Given the description of an element on the screen output the (x, y) to click on. 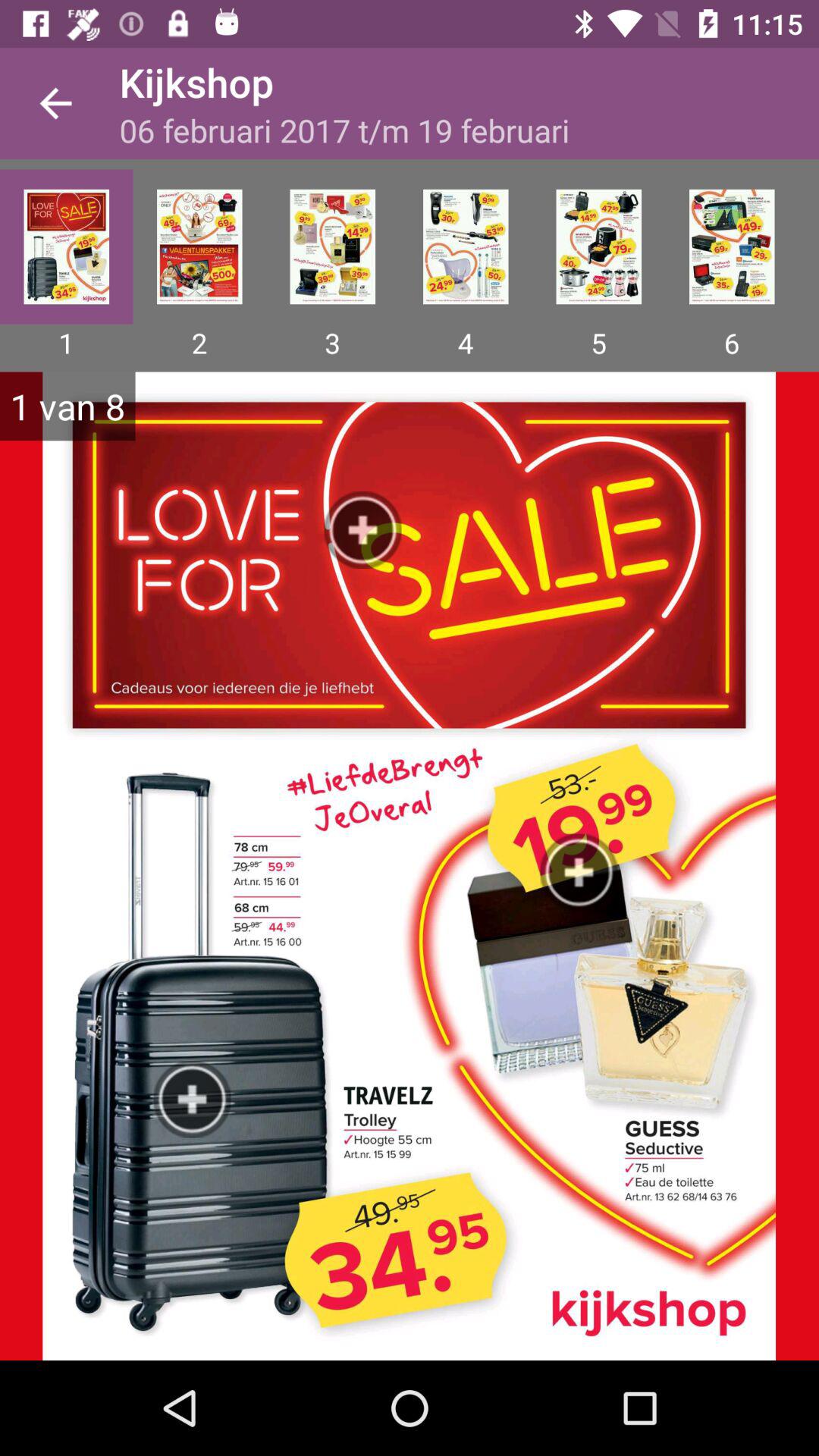
second page of the offer sale (199, 246)
